Given the description of an element on the screen output the (x, y) to click on. 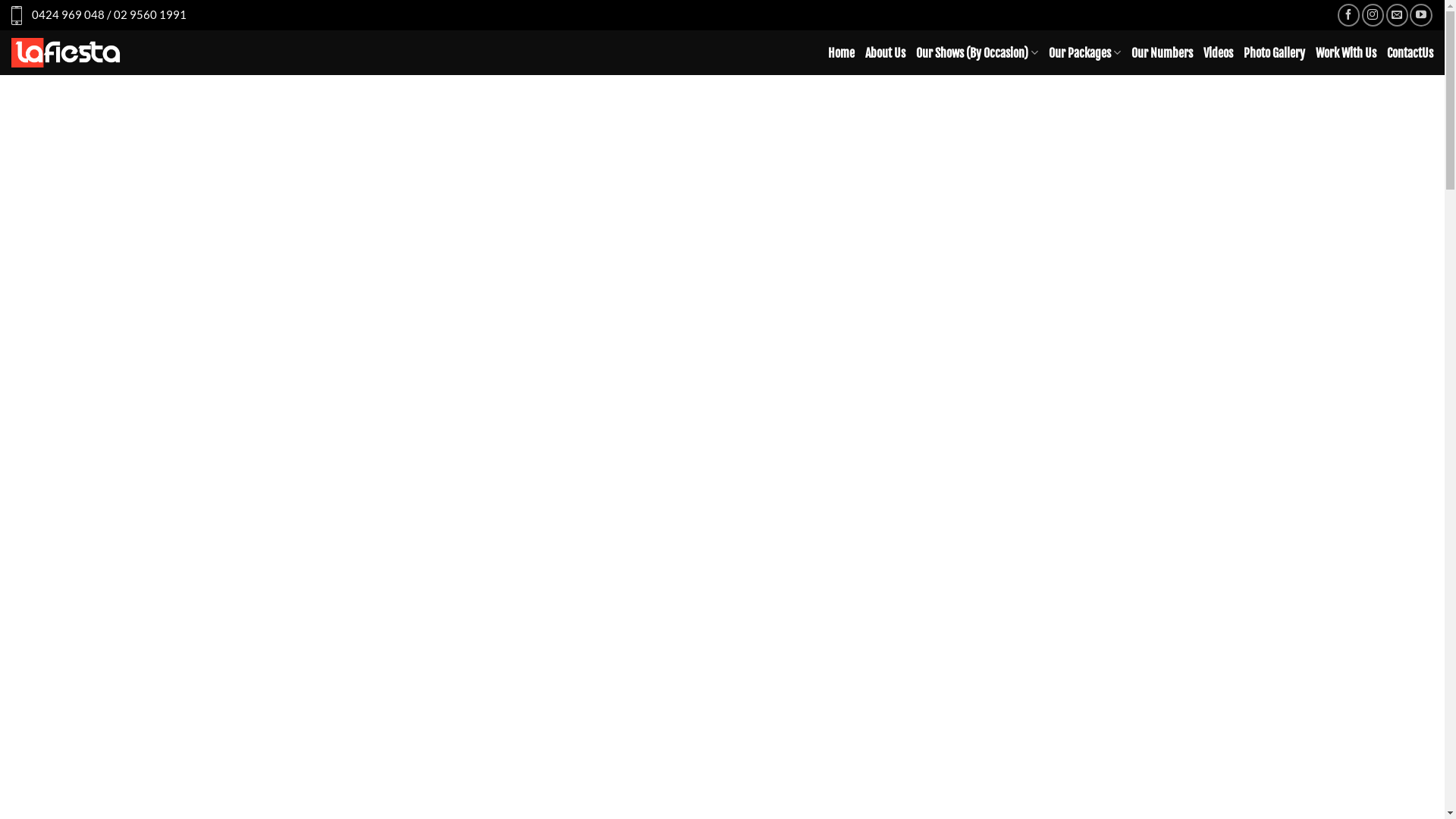
Our Numbers Element type: text (1161, 52)
Videos Element type: text (1218, 52)
Follow on Instagram Element type: hover (1372, 14)
Home Element type: text (841, 52)
About Us Element type: text (885, 52)
Send us an email Element type: hover (1397, 14)
Follow on YouTube Element type: hover (1420, 14)
Our Shows (By Occasion) Element type: text (977, 52)
Our Packages Element type: text (1084, 52)
Follow on Facebook Element type: hover (1348, 14)
ContactUs Element type: text (1409, 52)
Photo Gallery Element type: text (1274, 52)
Work With Us Element type: text (1345, 52)
